Given the description of an element on the screen output the (x, y) to click on. 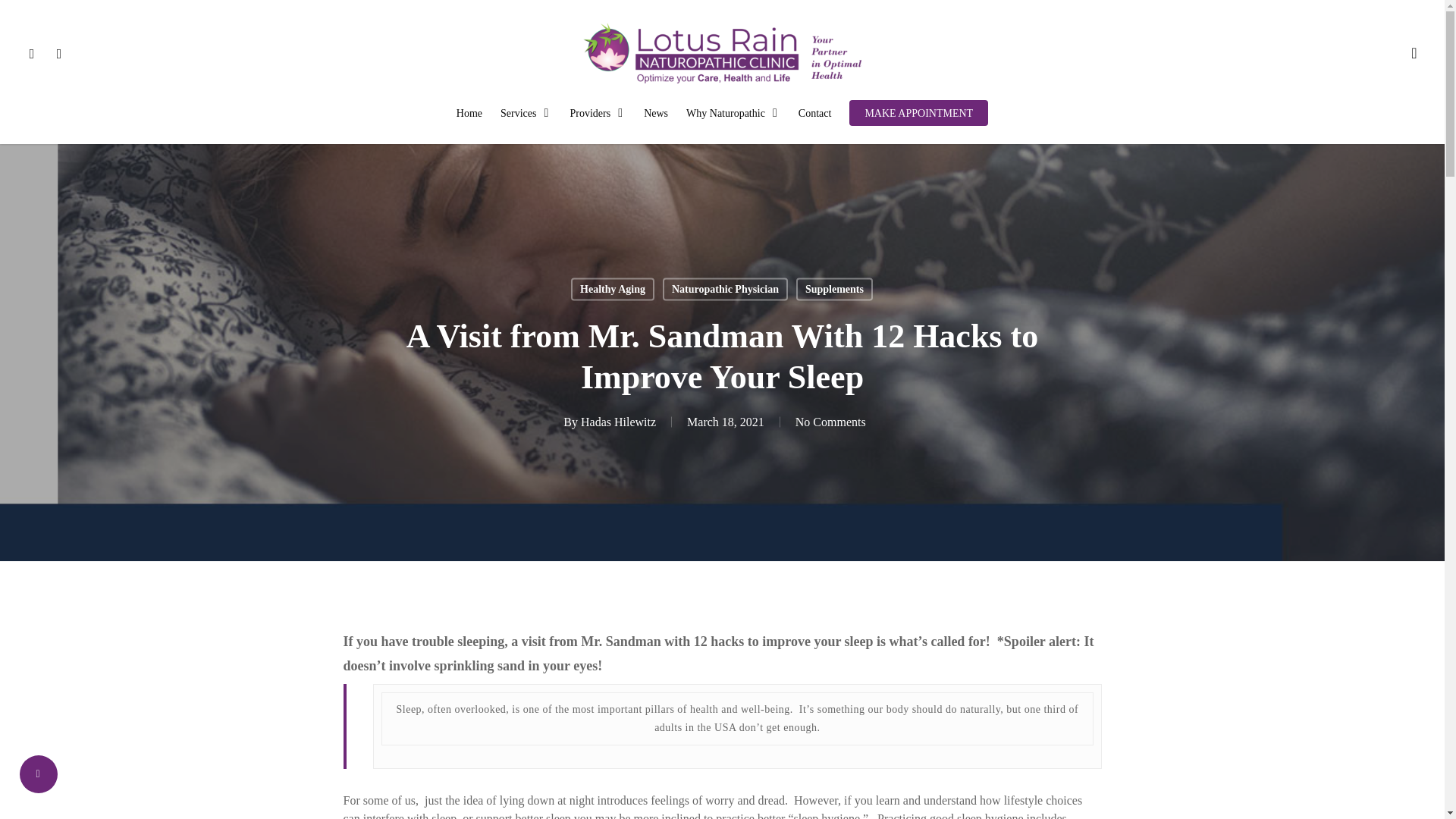
Services (526, 113)
search (1414, 53)
Providers (597, 113)
tumblr (58, 53)
Posts by Hadas Hilewitz (618, 421)
Home (469, 113)
facebook (31, 53)
